Given the description of an element on the screen output the (x, y) to click on. 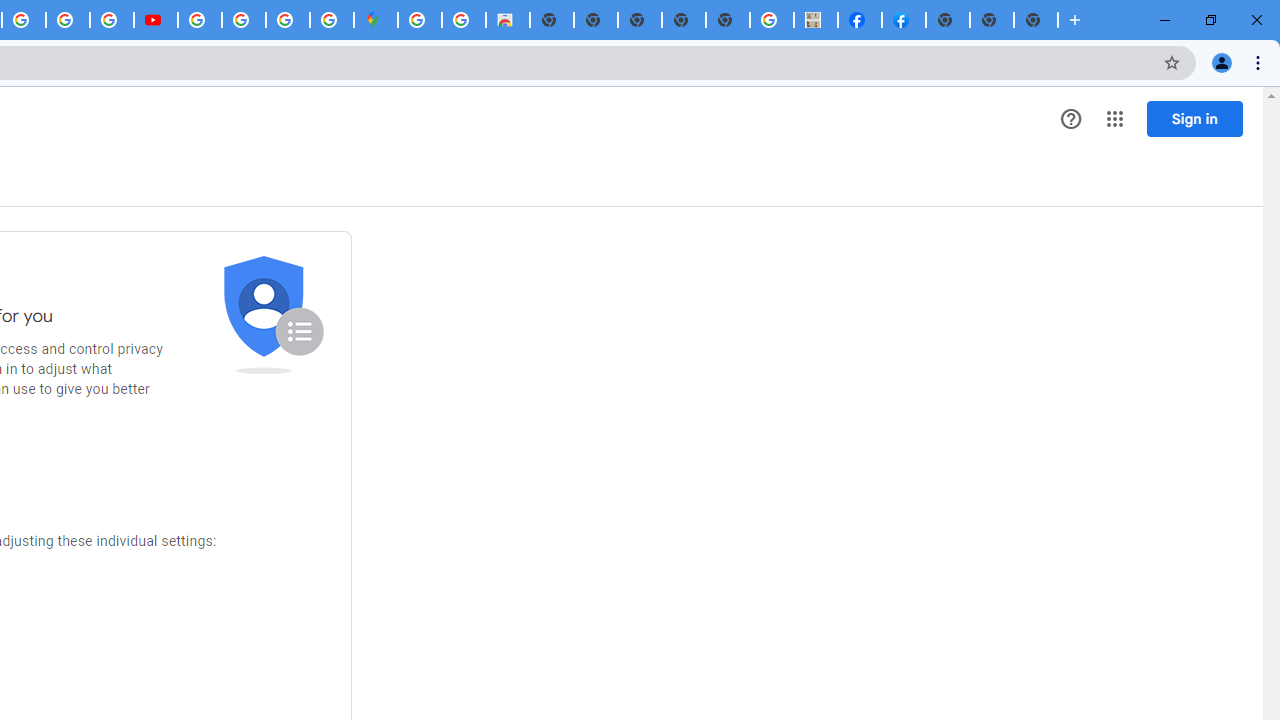
Subscriptions - YouTube (155, 20)
Google Maps (376, 20)
MILEY CYRUS. (815, 20)
Sign Up for Facebook (903, 20)
New Tab (947, 20)
